Given the description of an element on the screen output the (x, y) to click on. 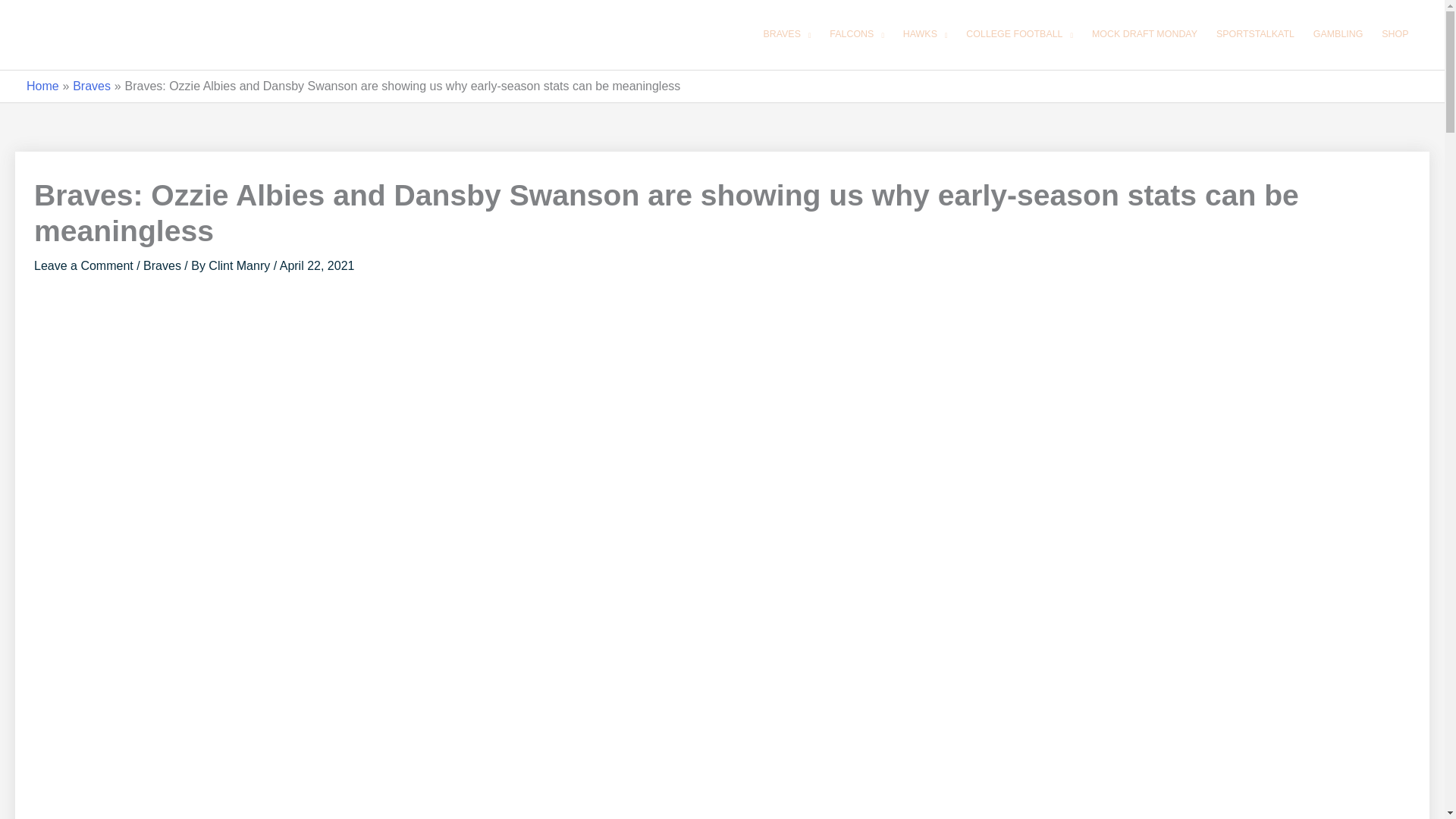
COLLEGE FOOTBALL (1019, 34)
GAMBLING (1338, 34)
MOCK DRAFT MONDAY (1144, 34)
View all posts by Clint Manry (240, 265)
FALCONS (857, 34)
HAWKS (924, 34)
SPORTSTALKATL (1255, 34)
BRAVES (787, 34)
